Given the description of an element on the screen output the (x, y) to click on. 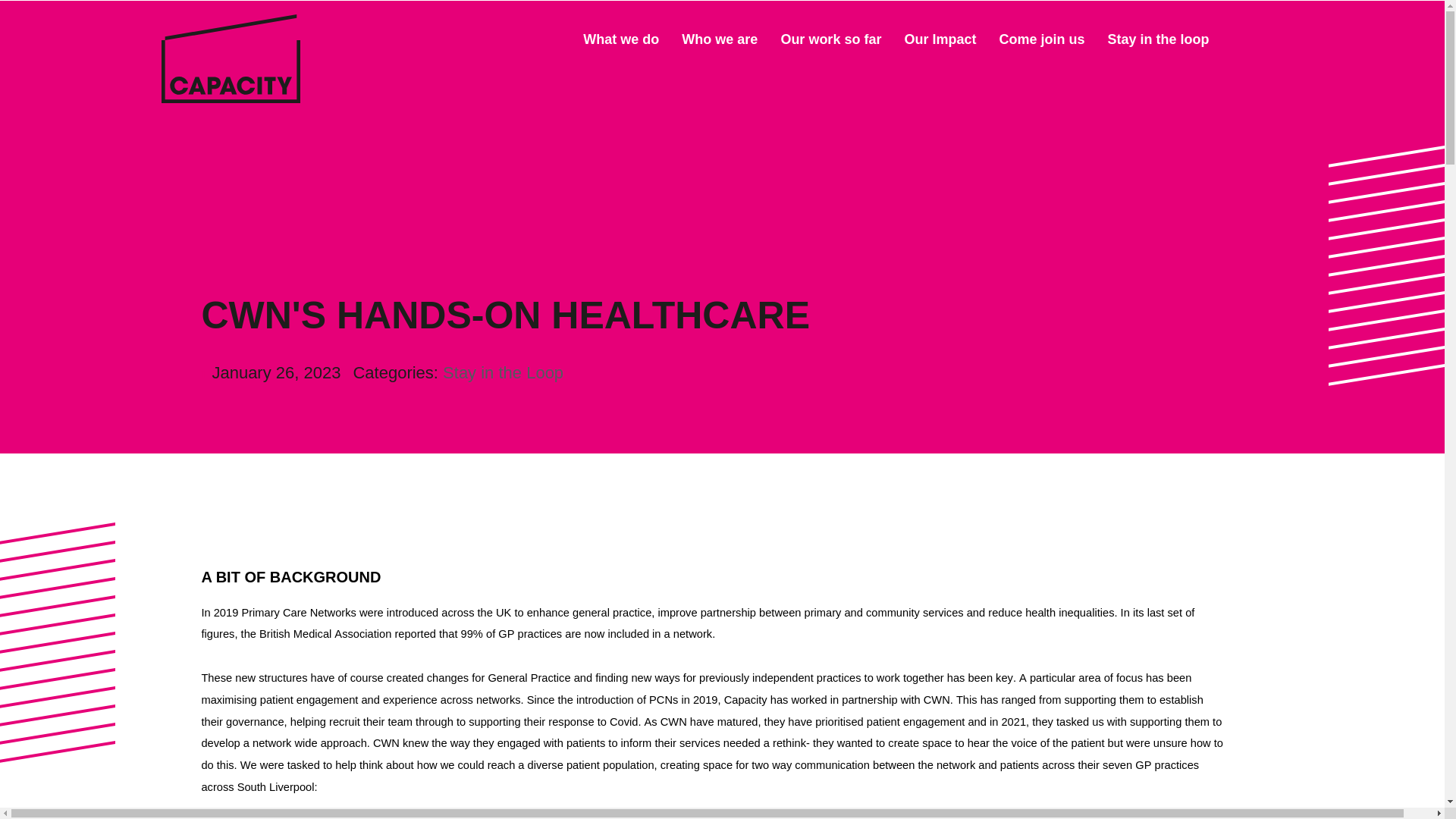
Stay in the loop (1157, 39)
Who we are (719, 39)
January 26, 2023 (270, 372)
Our work so far (830, 39)
What we do (621, 39)
Stay in the Loop (502, 372)
Our Impact (939, 39)
Come join us (1041, 39)
